Given the description of an element on the screen output the (x, y) to click on. 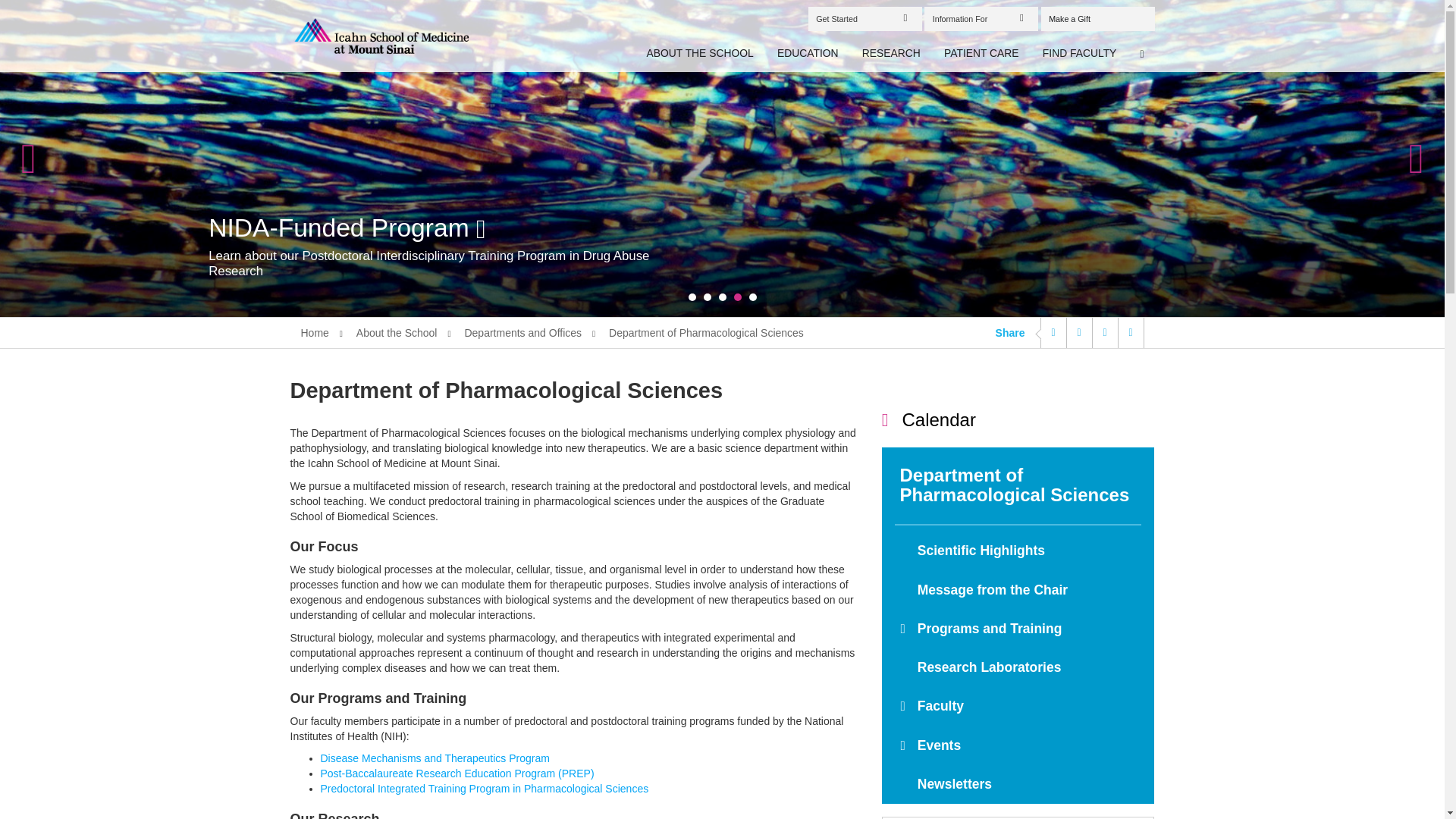
Information For (981, 18)
Get Started (864, 18)
Make a Gift (1097, 18)
ABOUT THE SCHOOL (700, 54)
